Given the description of an element on the screen output the (x, y) to click on. 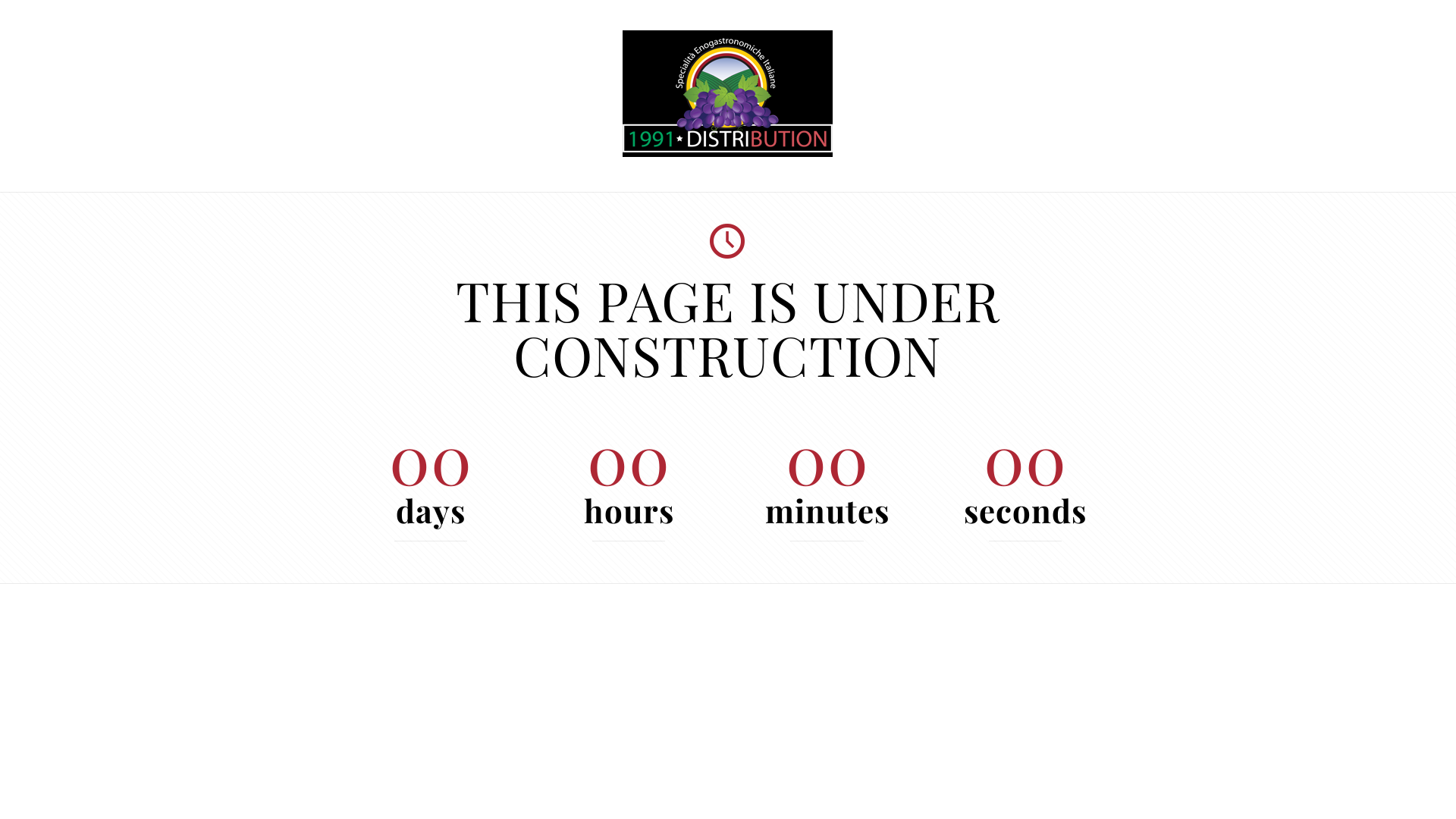
1991 DISTRIBUTION Element type: hover (727, 152)
